Given the description of an element on the screen output the (x, y) to click on. 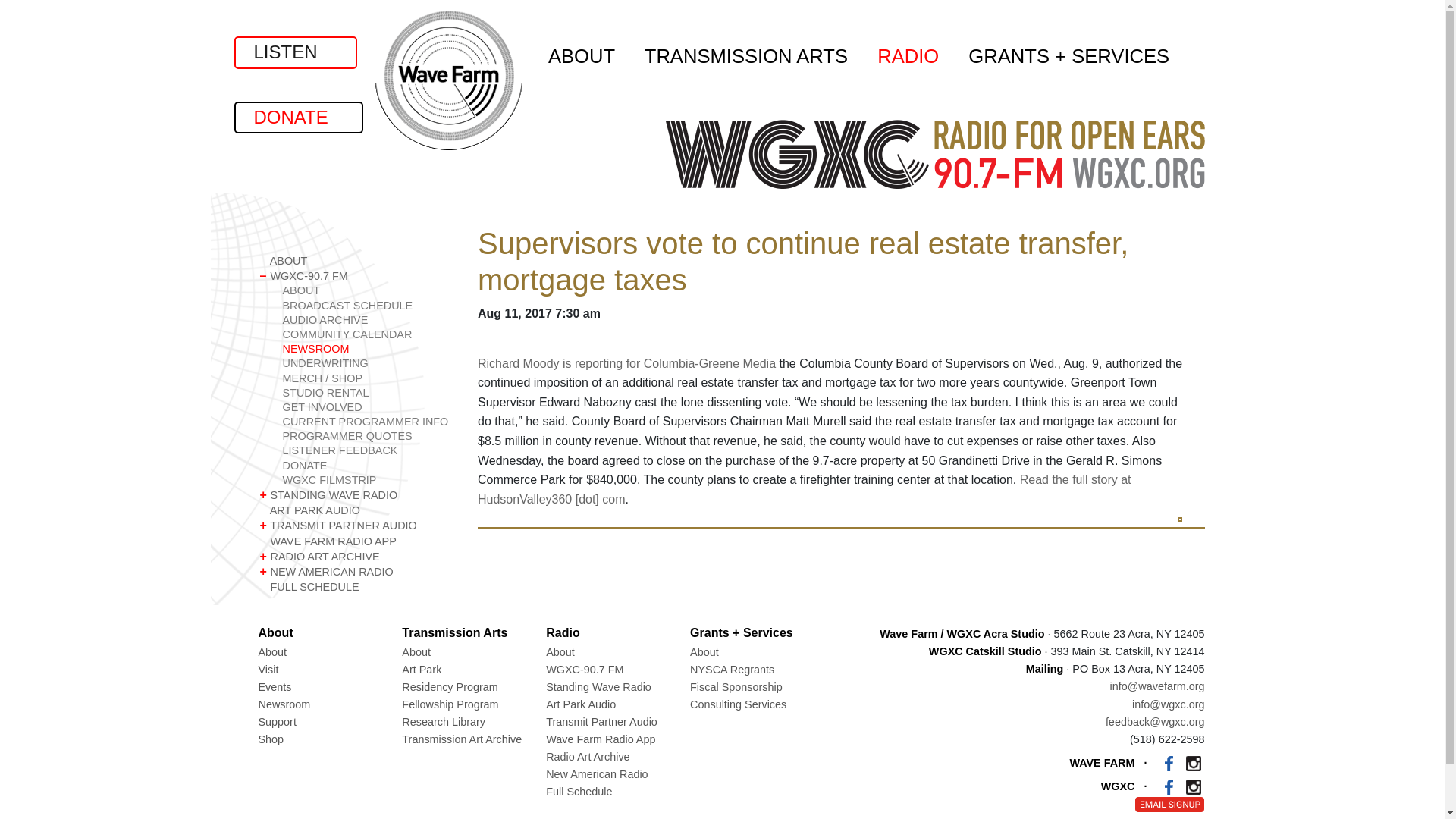
  ABOUT (355, 260)
DONATE    (297, 117)
ABOUT (367, 290)
LISTEN     (294, 51)
BROADCAST SCHEDULE (367, 305)
